Given the description of an element on the screen output the (x, y) to click on. 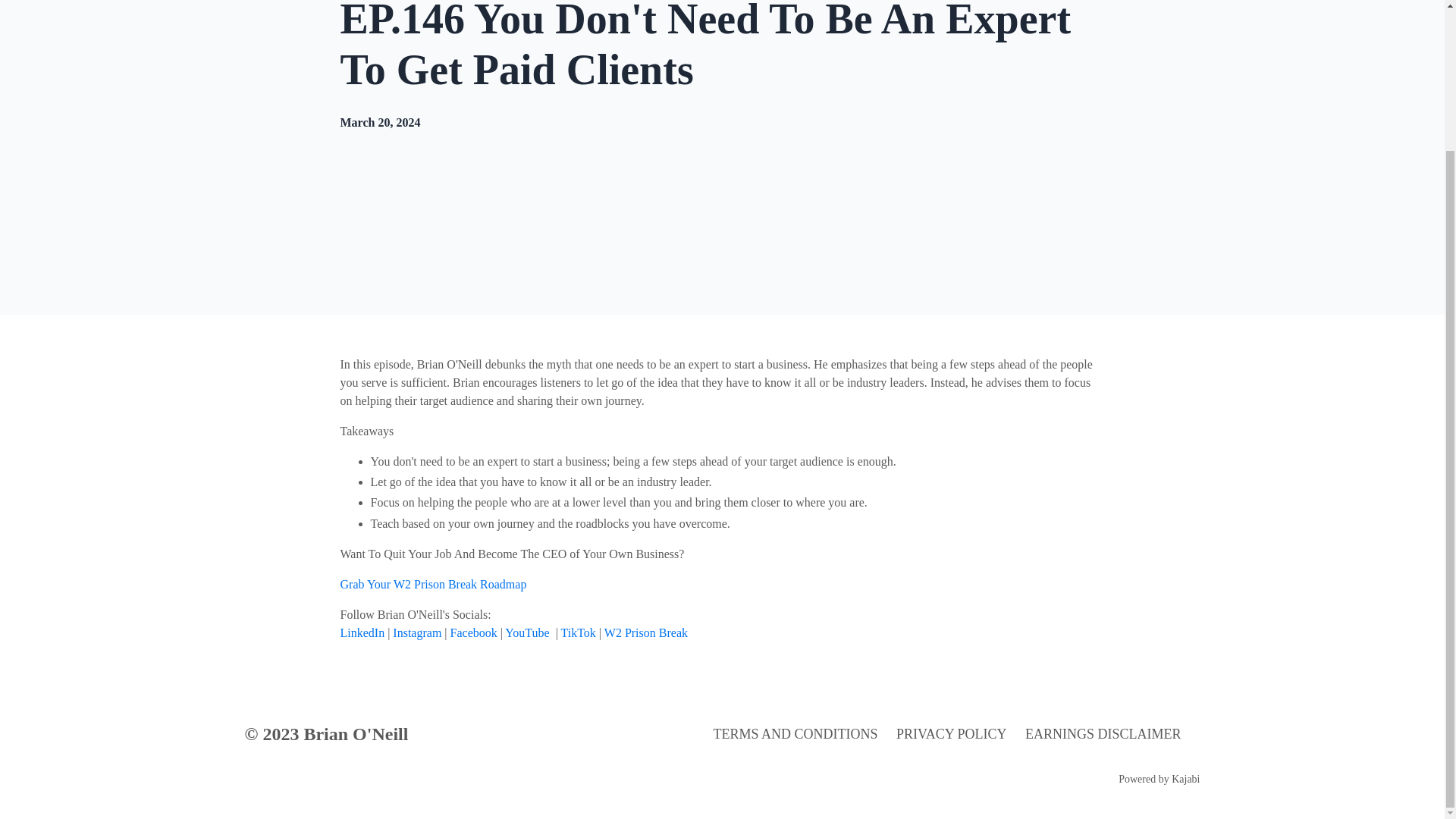
W2 Prison Break  (647, 632)
Facebook (473, 632)
TikTok (577, 632)
PRIVACY POLICY (951, 734)
Powered by Kajabi (1158, 778)
TERMS AND CONDITIONS (795, 734)
YouTube (526, 632)
March 20, 2024 at 1:00pm CST (379, 122)
EARNINGS DISCLAIMER (1102, 734)
Grab Your W2 Prison Break Roadmap (432, 584)
Instagram (417, 632)
LinkedIn (361, 632)
